Given the description of an element on the screen output the (x, y) to click on. 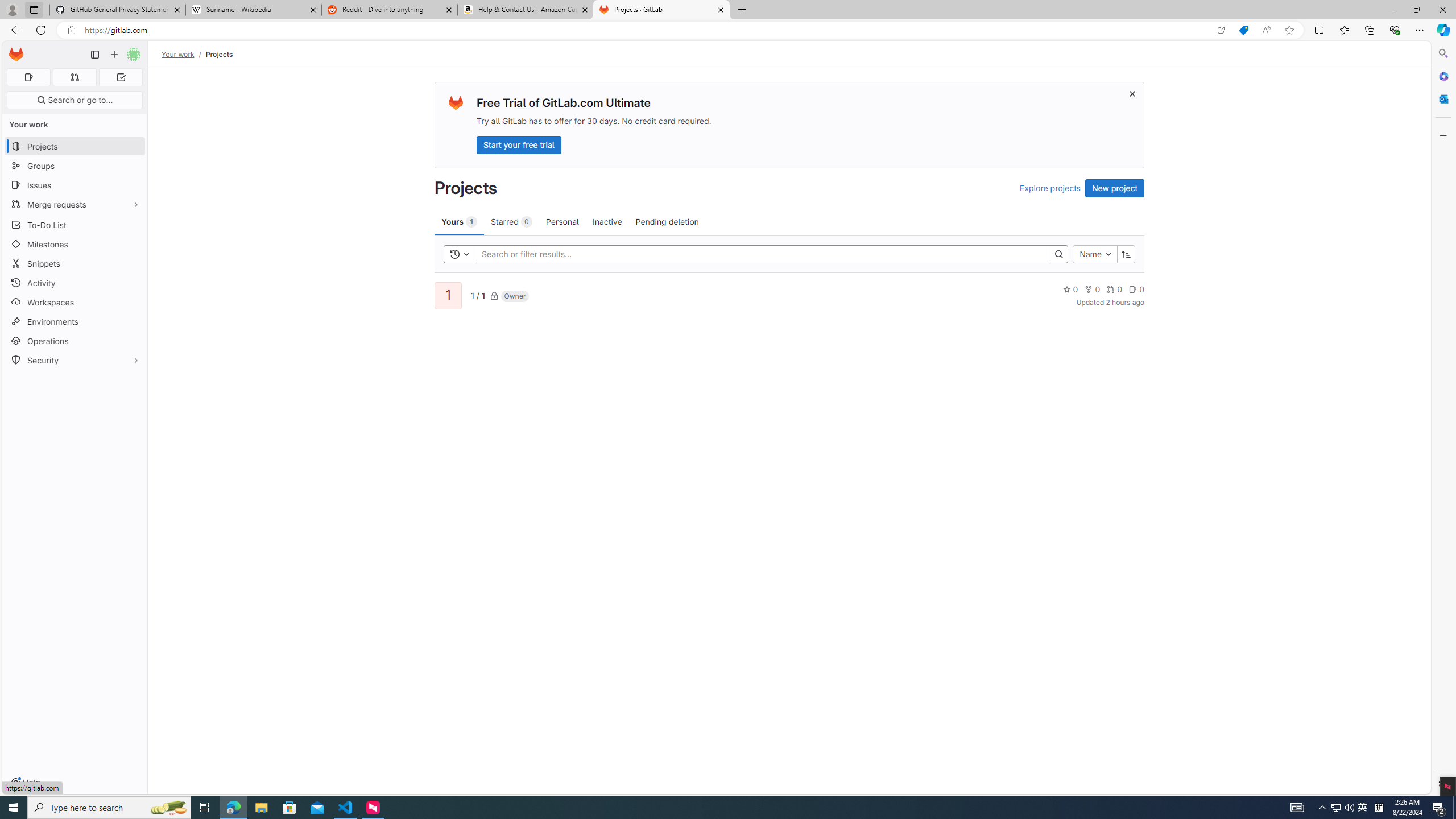
Environments (74, 321)
Pending deletion (667, 221)
Activity (74, 282)
Assigned issues 0 (28, 76)
Reddit - Dive into anything (390, 9)
Issues (74, 185)
To-Do list 0 (120, 76)
Shopping in Microsoft Edge (1243, 29)
Starred 0 (510, 221)
Merge requests (74, 203)
Snippets (74, 262)
